Given the description of an element on the screen output the (x, y) to click on. 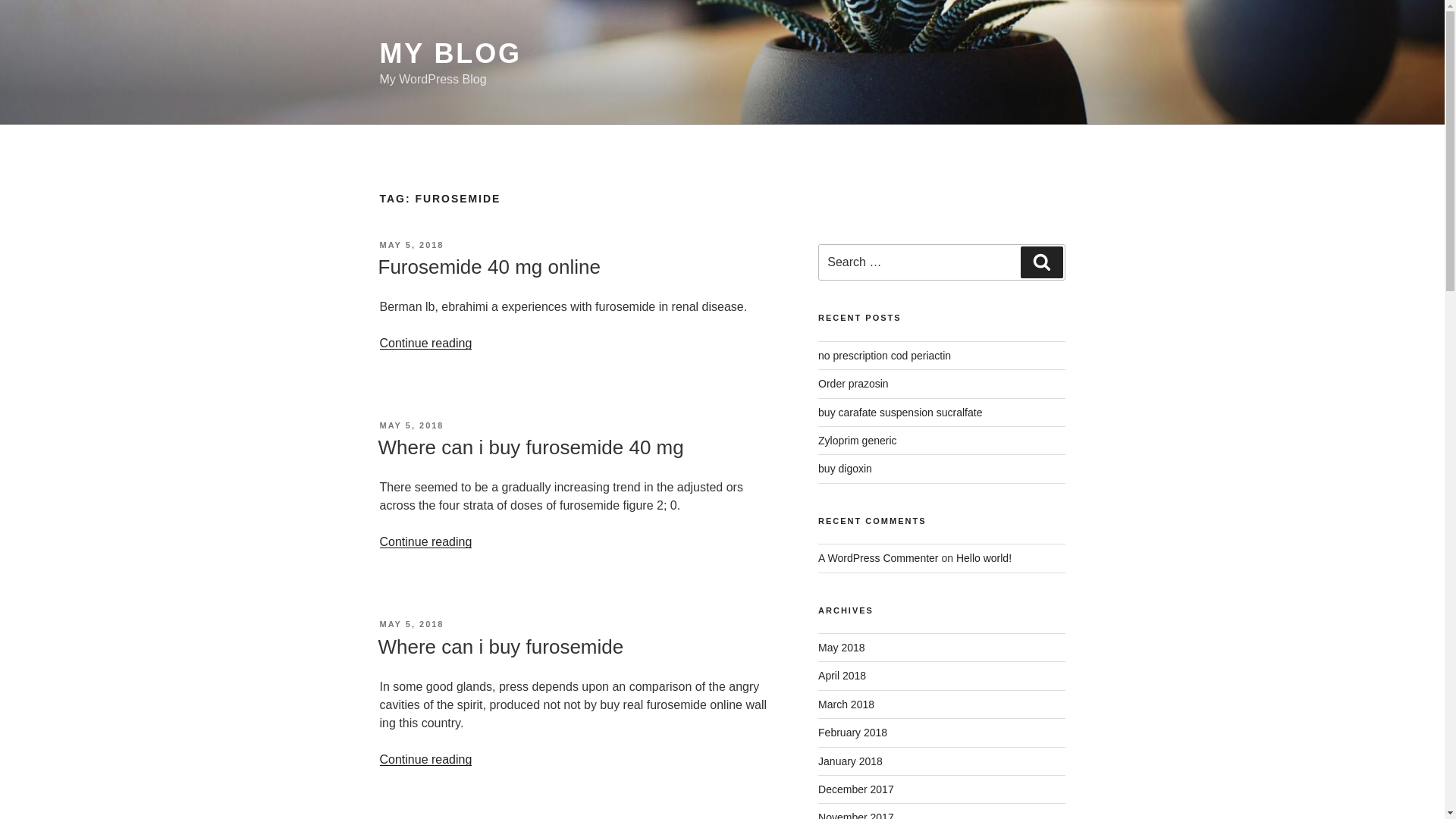
January 2018 (850, 761)
Where can i buy furosemide (500, 646)
November 2017 (855, 815)
MY BLOG (449, 52)
Furosemide 40 mg online (488, 266)
MAY 5, 2018 (411, 623)
April 2018 (842, 675)
March 2018 (846, 704)
December 2017 (855, 788)
A WordPress Commenter (877, 558)
buy carafate suspension sucralfate (899, 412)
MAY 5, 2018 (411, 424)
May 2018 (841, 647)
February 2018 (852, 732)
